Given the description of an element on the screen output the (x, y) to click on. 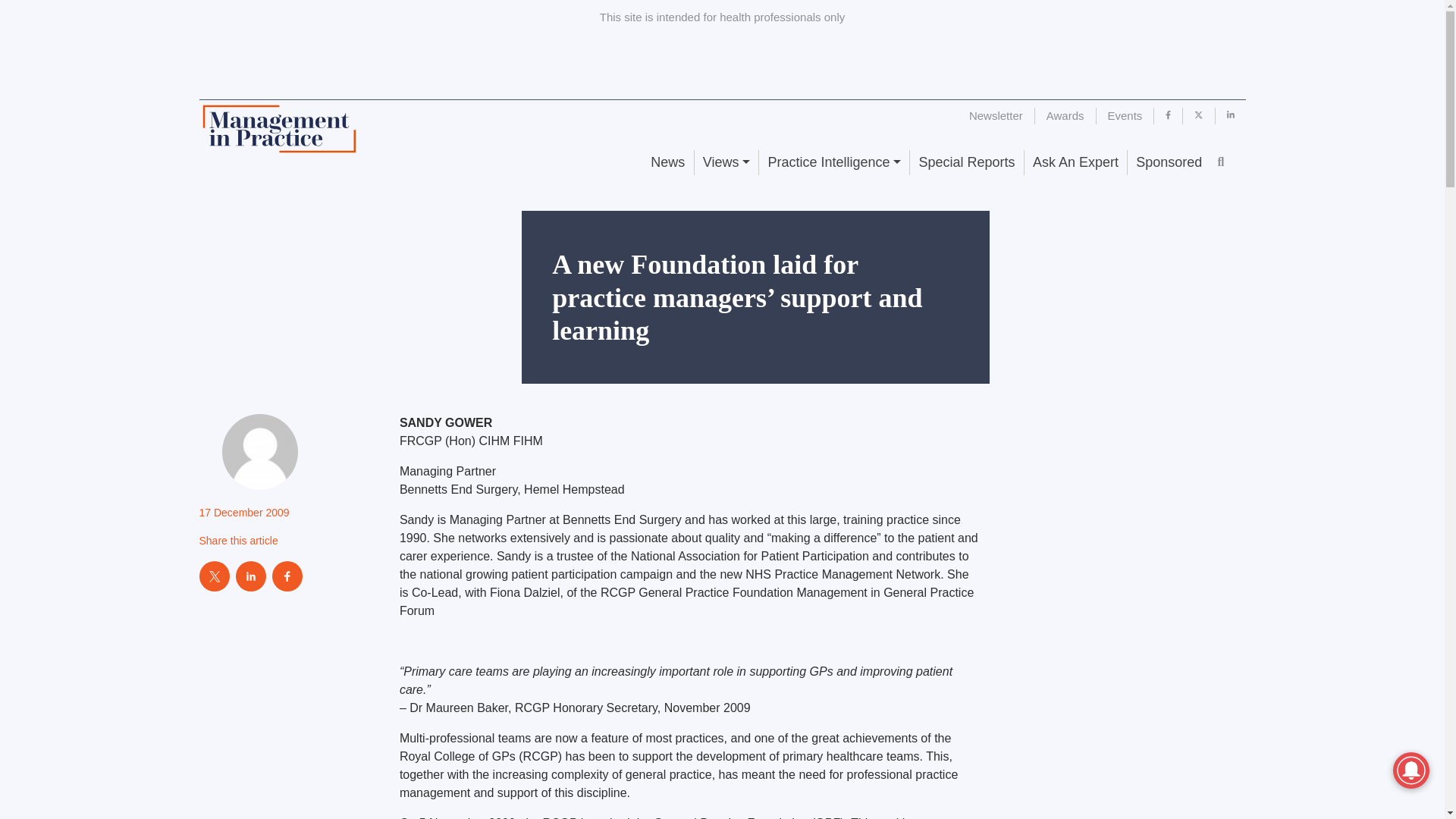
Views (726, 162)
Awards (1065, 115)
Sponsored (1167, 162)
News (667, 162)
Ask An Expert (1075, 162)
Practice Intelligence (833, 162)
Newsletter (996, 115)
Special Reports (966, 162)
Events (1125, 115)
